Given the description of an element on the screen output the (x, y) to click on. 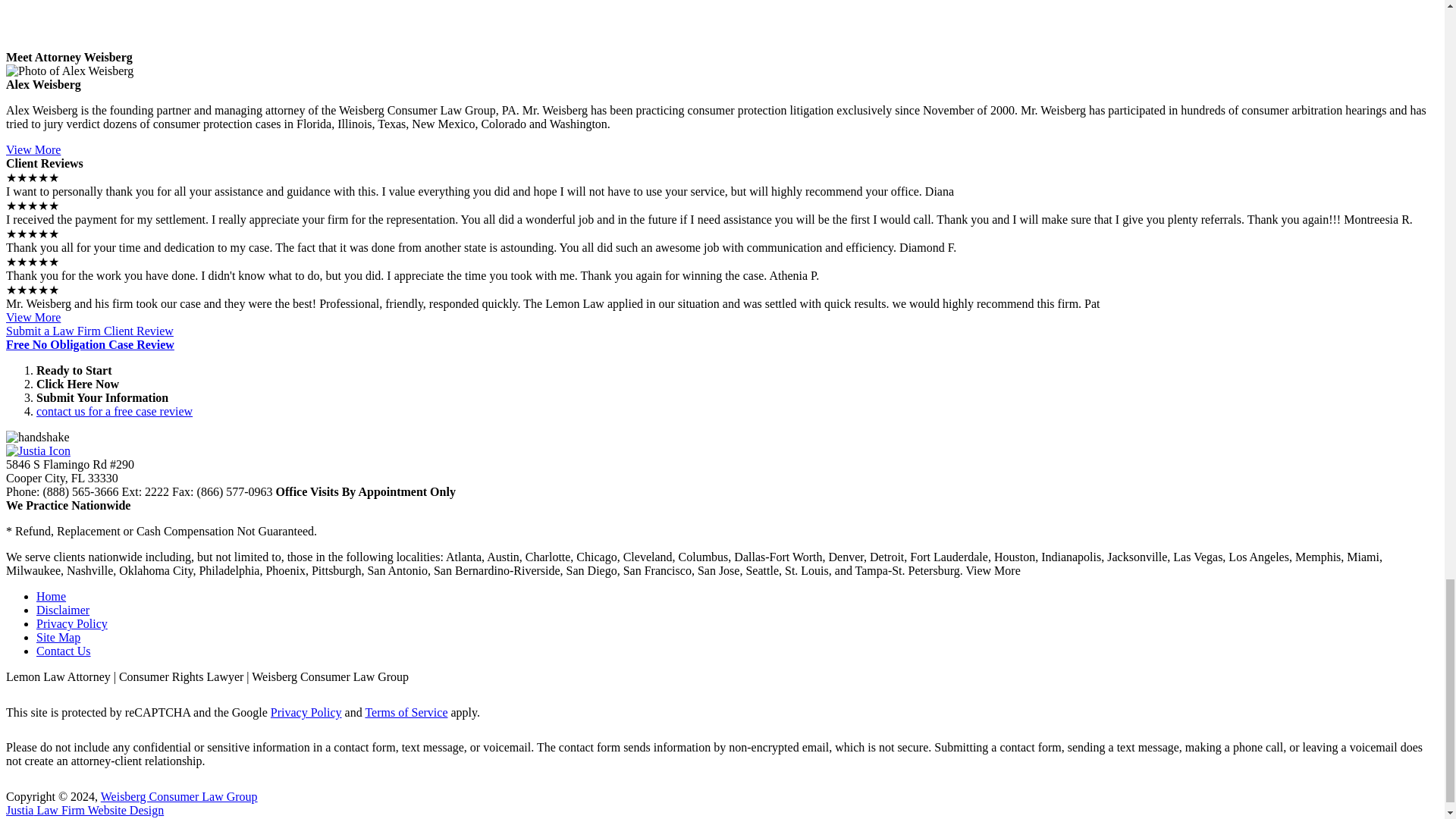
Home (50, 595)
Terms of Service (405, 712)
View More (33, 149)
View More (33, 317)
Submit a Law Firm Client Review (89, 330)
Weisberg Consumer Law Group (178, 796)
Contact Us (63, 650)
Privacy Policy (71, 623)
contact us for a free case review (114, 410)
Site Map (58, 636)
Justia (37, 450)
Disclaimer (62, 609)
Justia Law Firm Website Design (84, 809)
Privacy Policy (306, 712)
Free No Obligation Case Review (89, 344)
